Given the description of an element on the screen output the (x, y) to click on. 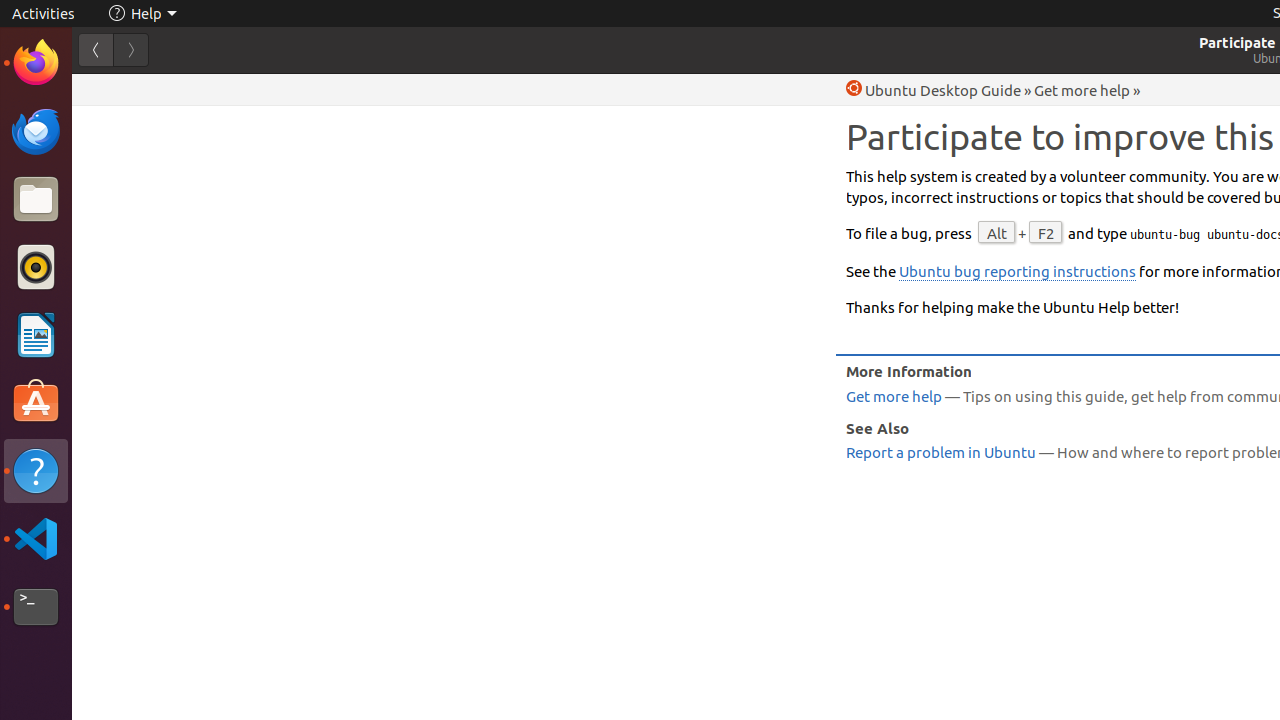
li.txt Element type: label (259, 89)
Trash Element type: label (133, 191)
